Given the description of an element on the screen output the (x, y) to click on. 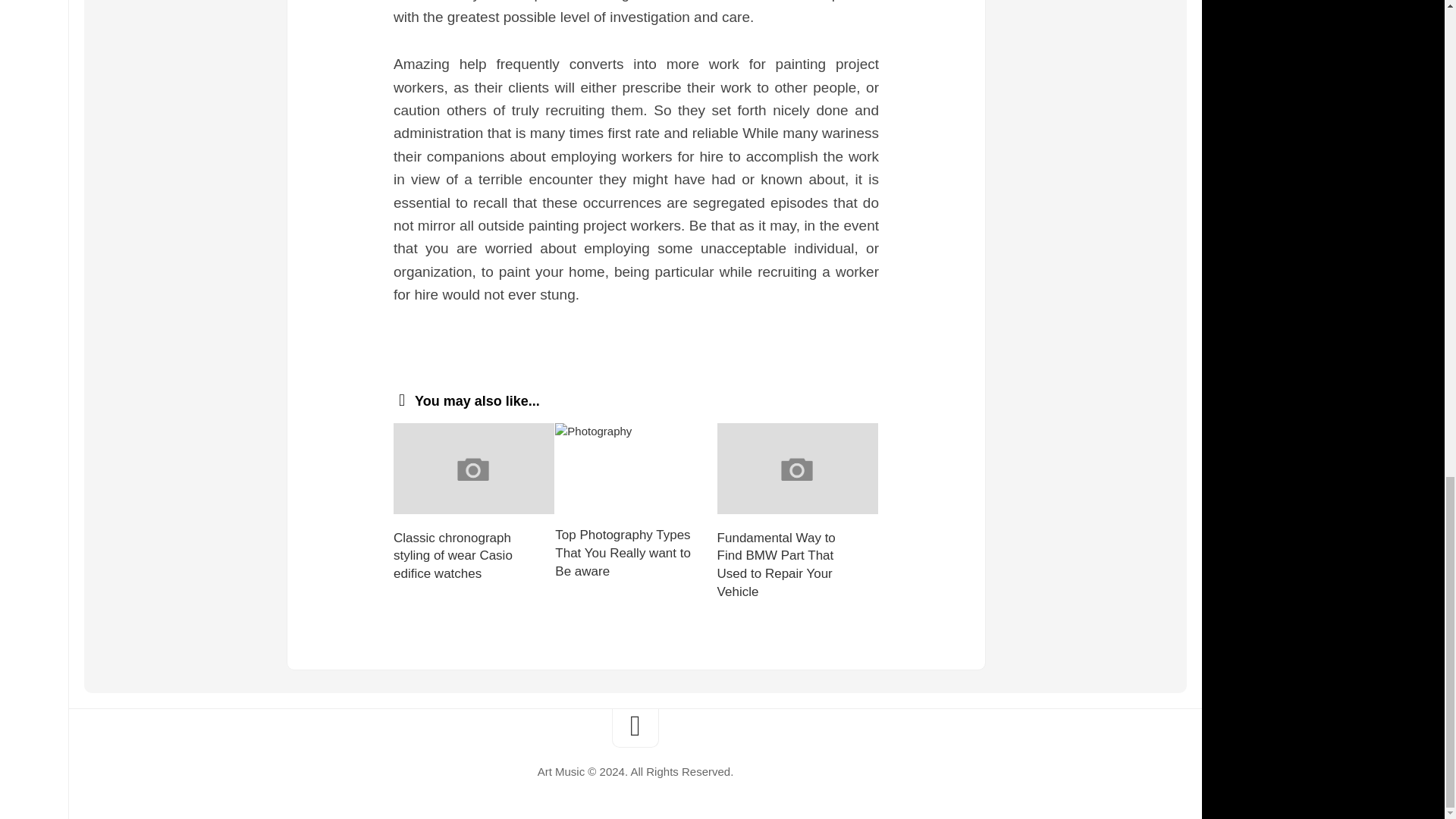
Classic chronograph styling of wear Casio edifice watches (452, 555)
Top Photography Types That You Really want to Be aware (622, 552)
